Given the description of an element on the screen output the (x, y) to click on. 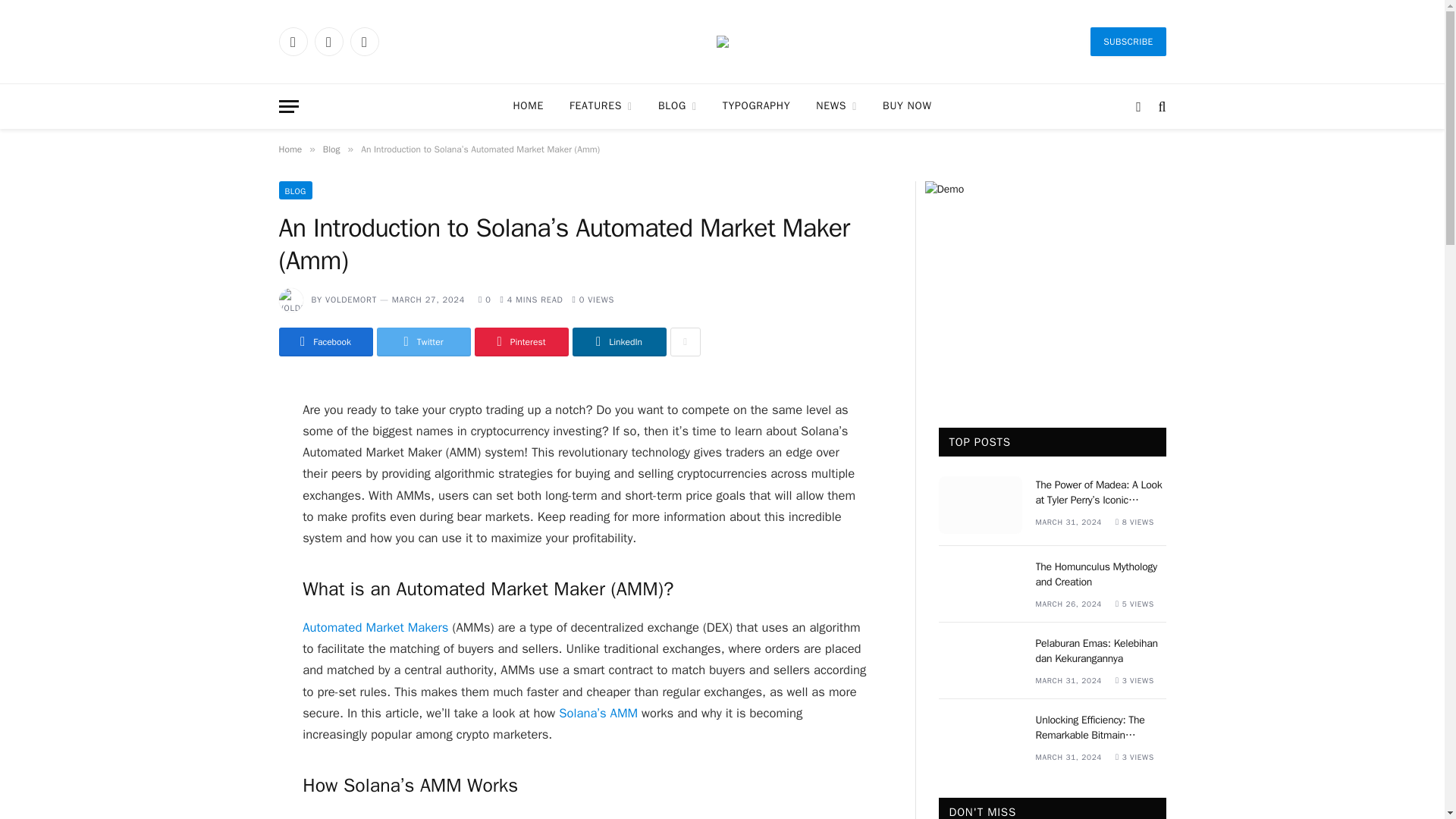
Facebook (293, 41)
SUBSCRIBE (1128, 41)
NEWS (836, 106)
Switch to Dark Design - easier on eyes. (1138, 106)
FEATURES (600, 106)
BUY NOW (906, 106)
Share on Pinterest (521, 341)
Instagram (364, 41)
Share on Facebook (325, 341)
TYPOGRAPHY (756, 106)
